Given the description of an element on the screen output the (x, y) to click on. 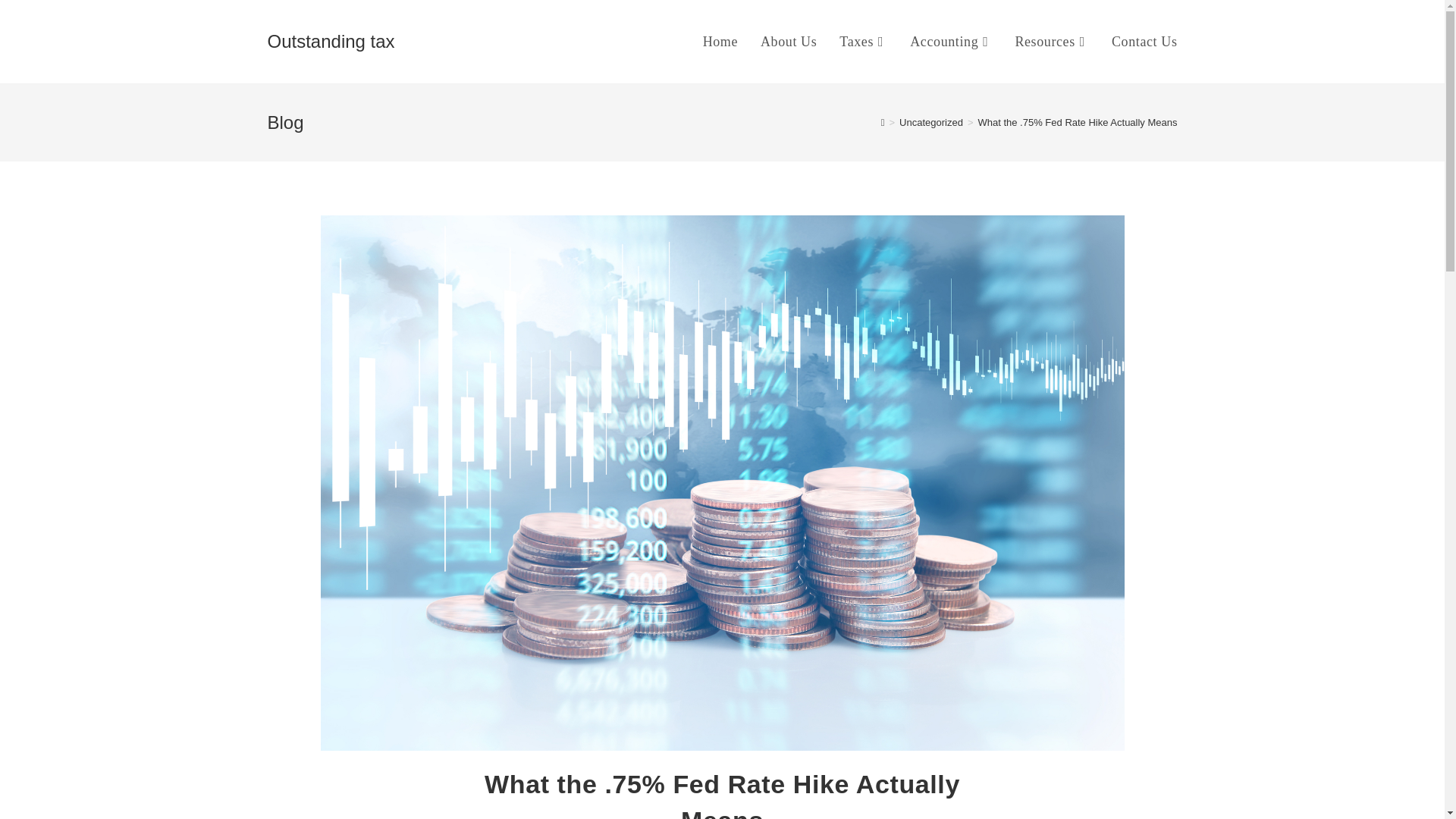
Accounting (950, 41)
Contact Us (1144, 41)
Outstanding tax (330, 41)
About Us (788, 41)
Resources (1051, 41)
